Given the description of an element on the screen output the (x, y) to click on. 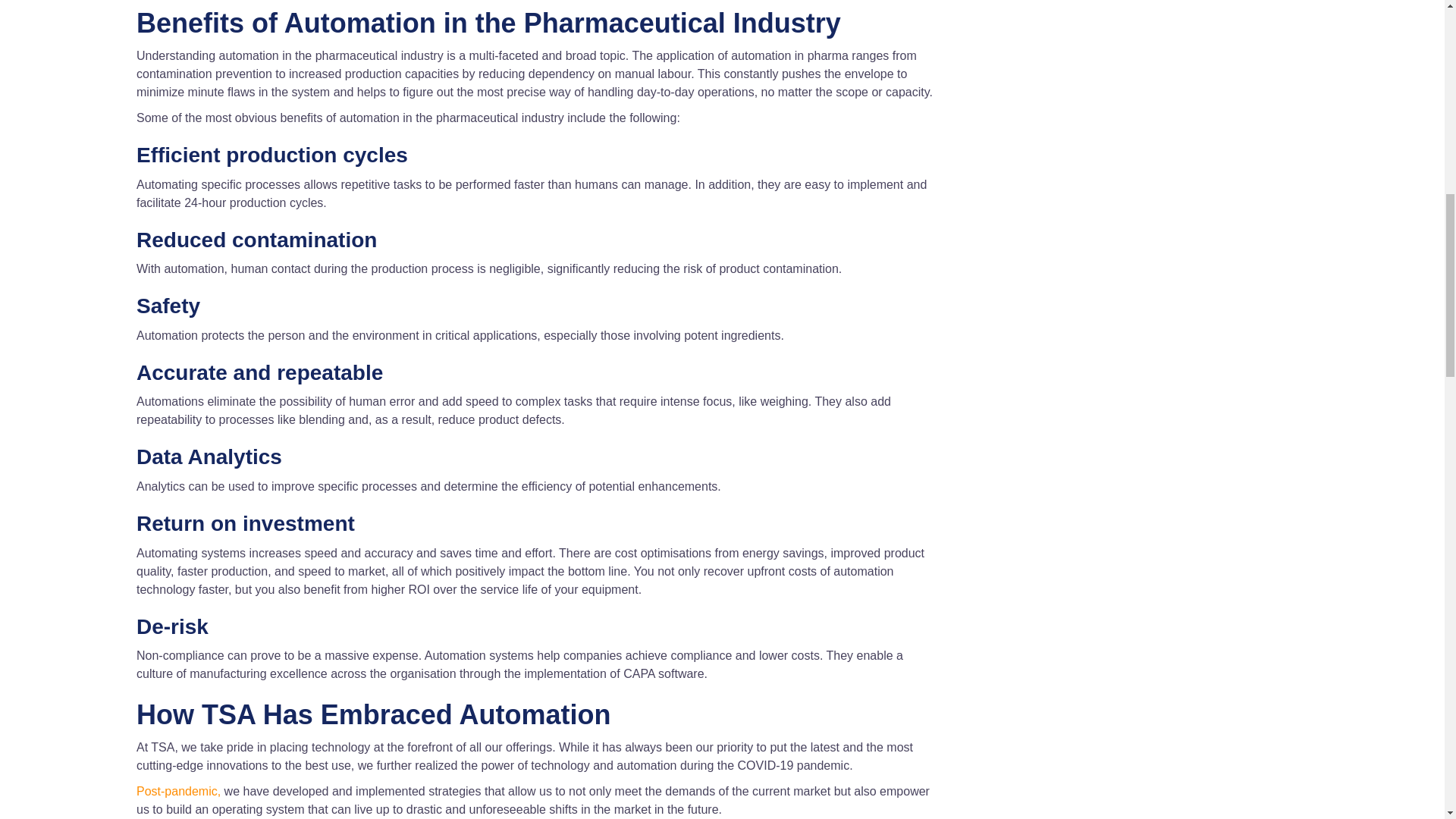
Post-pandemic, (178, 790)
